Given the description of an element on the screen output the (x, y) to click on. 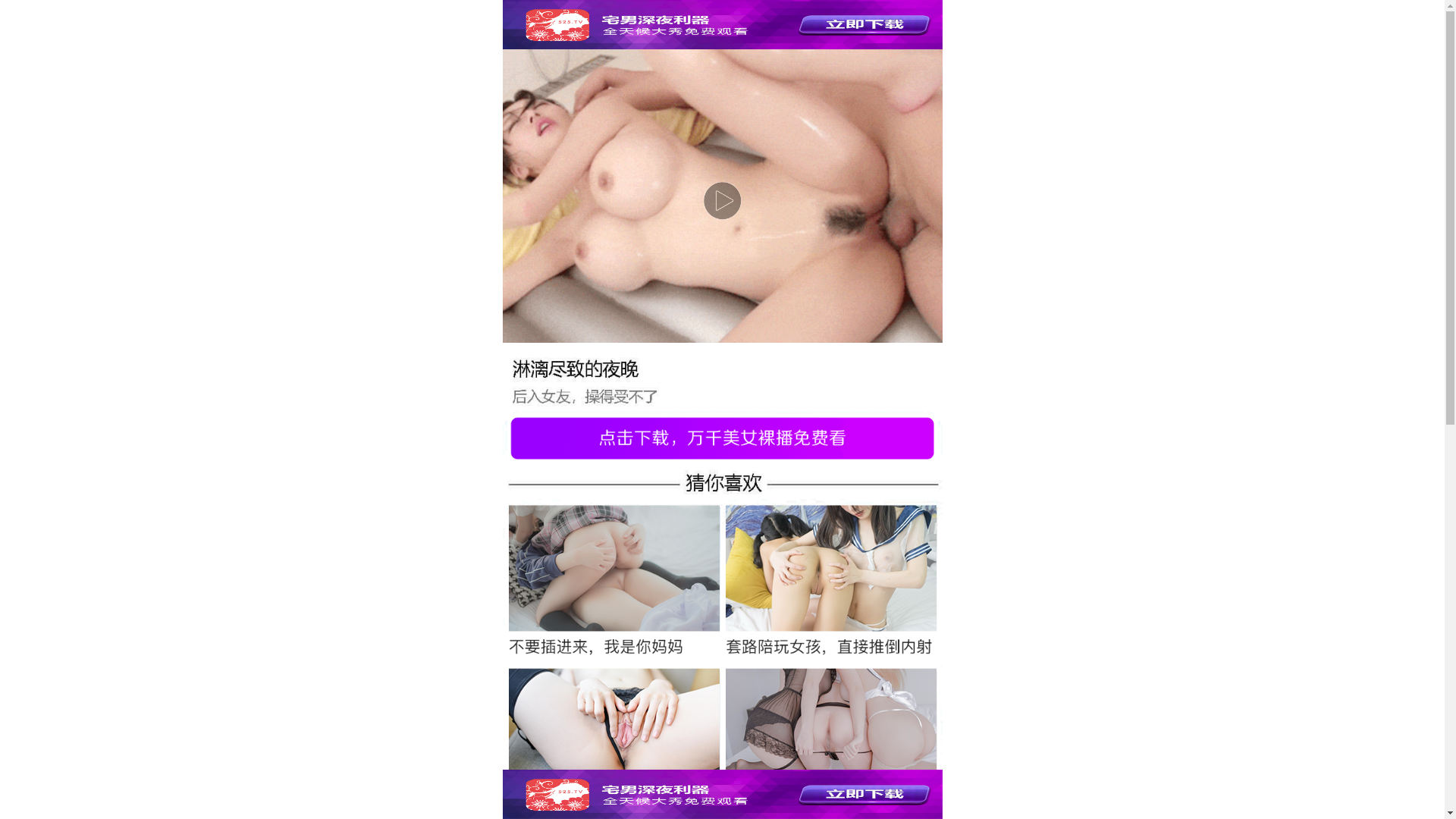
2 Element type: text (761, 551)
1 Element type: text (706, 551)
2 Element type: text (743, 551)
2 Element type: text (724, 551)
2 Element type: text (779, 551)
